Given the description of an element on the screen output the (x, y) to click on. 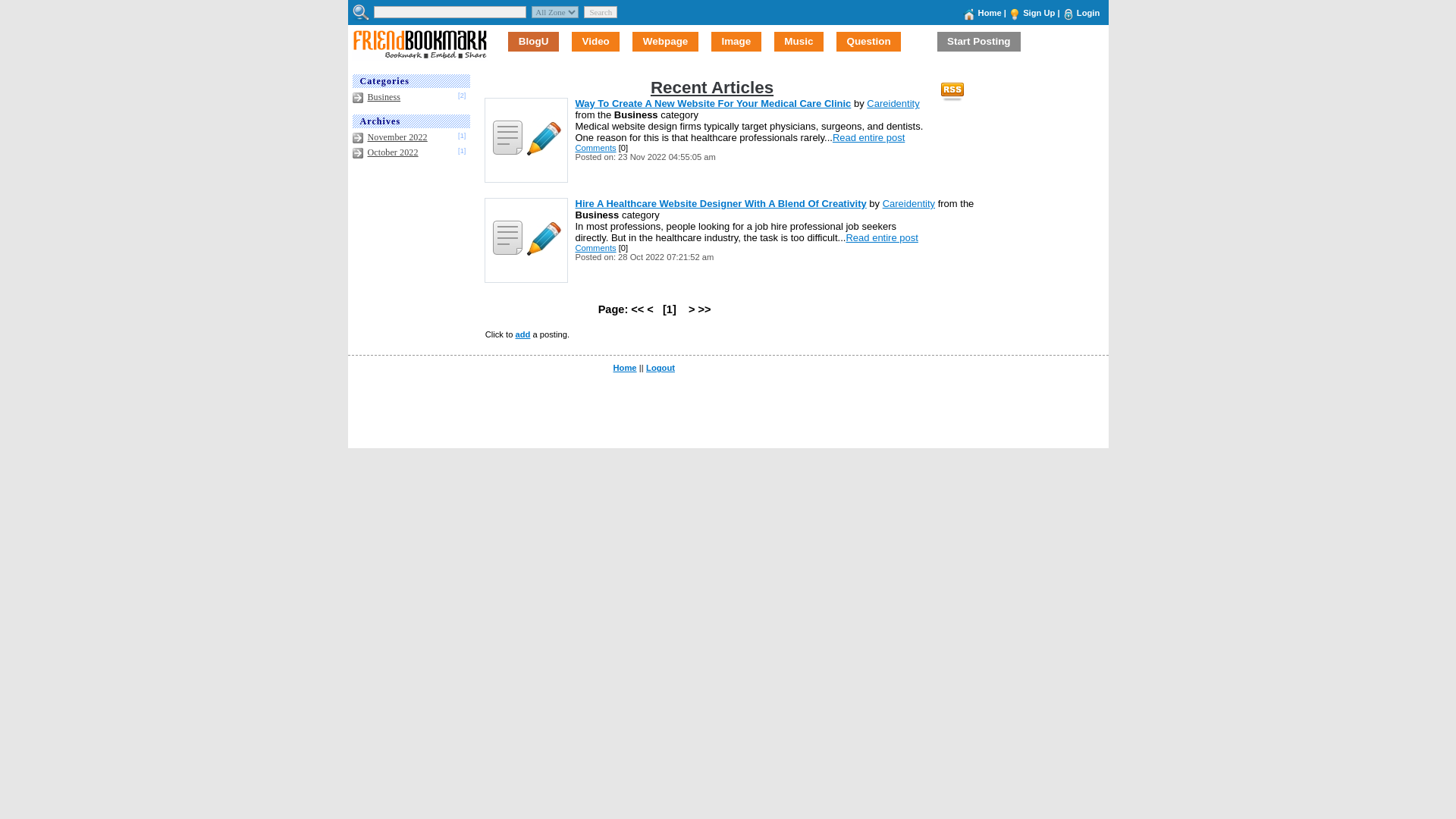
Home (989, 12)
Login (1088, 12)
Sign Up (1038, 12)
Search (600, 11)
Search (600, 11)
